Given the description of an element on the screen output the (x, y) to click on. 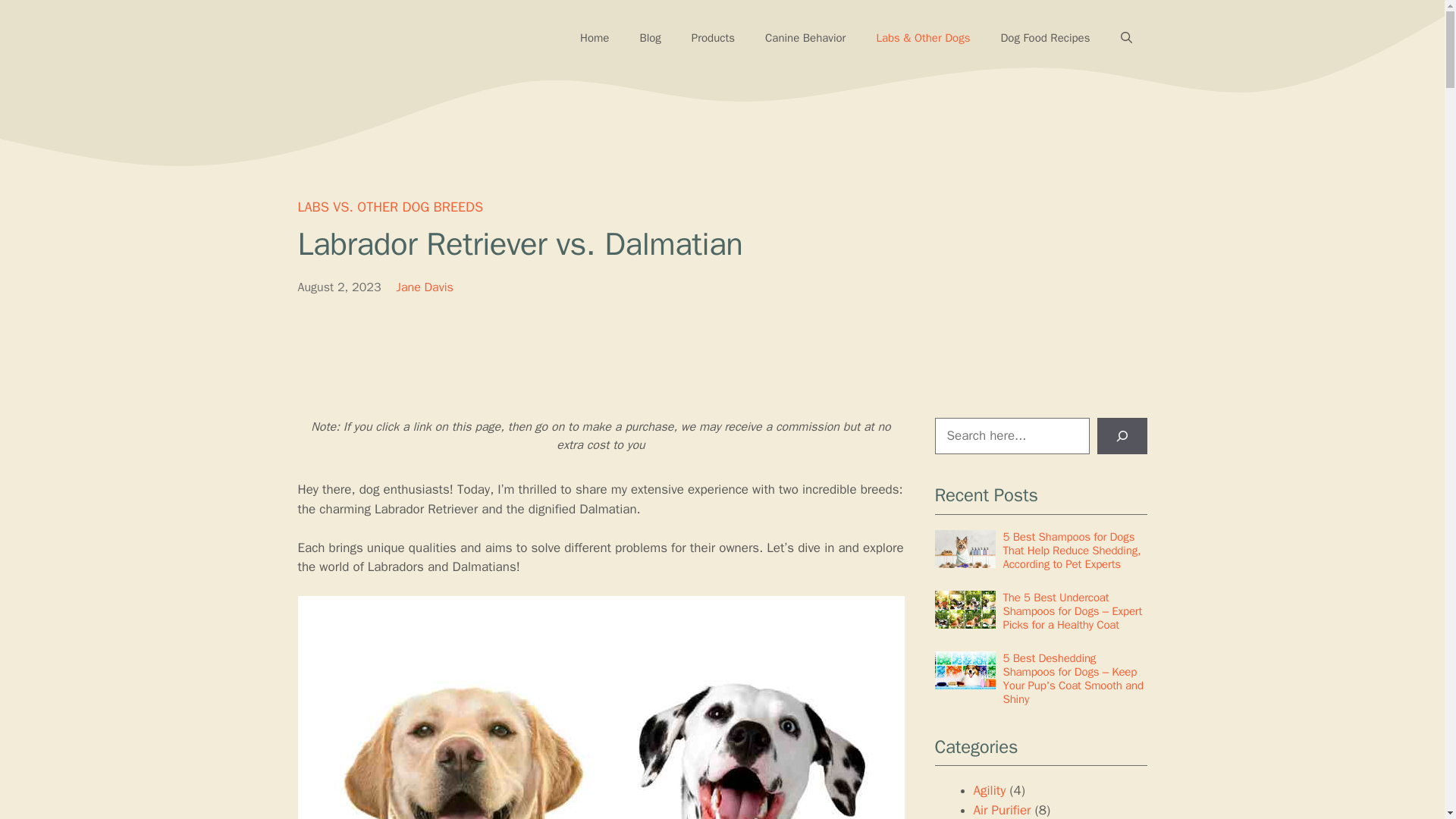
Home (594, 37)
LABS VS. OTHER DOG BREEDS (390, 207)
Jane Davis (424, 287)
Blog (649, 37)
Dog Food Recipes (1045, 37)
Canine Behavior (804, 37)
Products (713, 37)
